Given the description of an element on the screen output the (x, y) to click on. 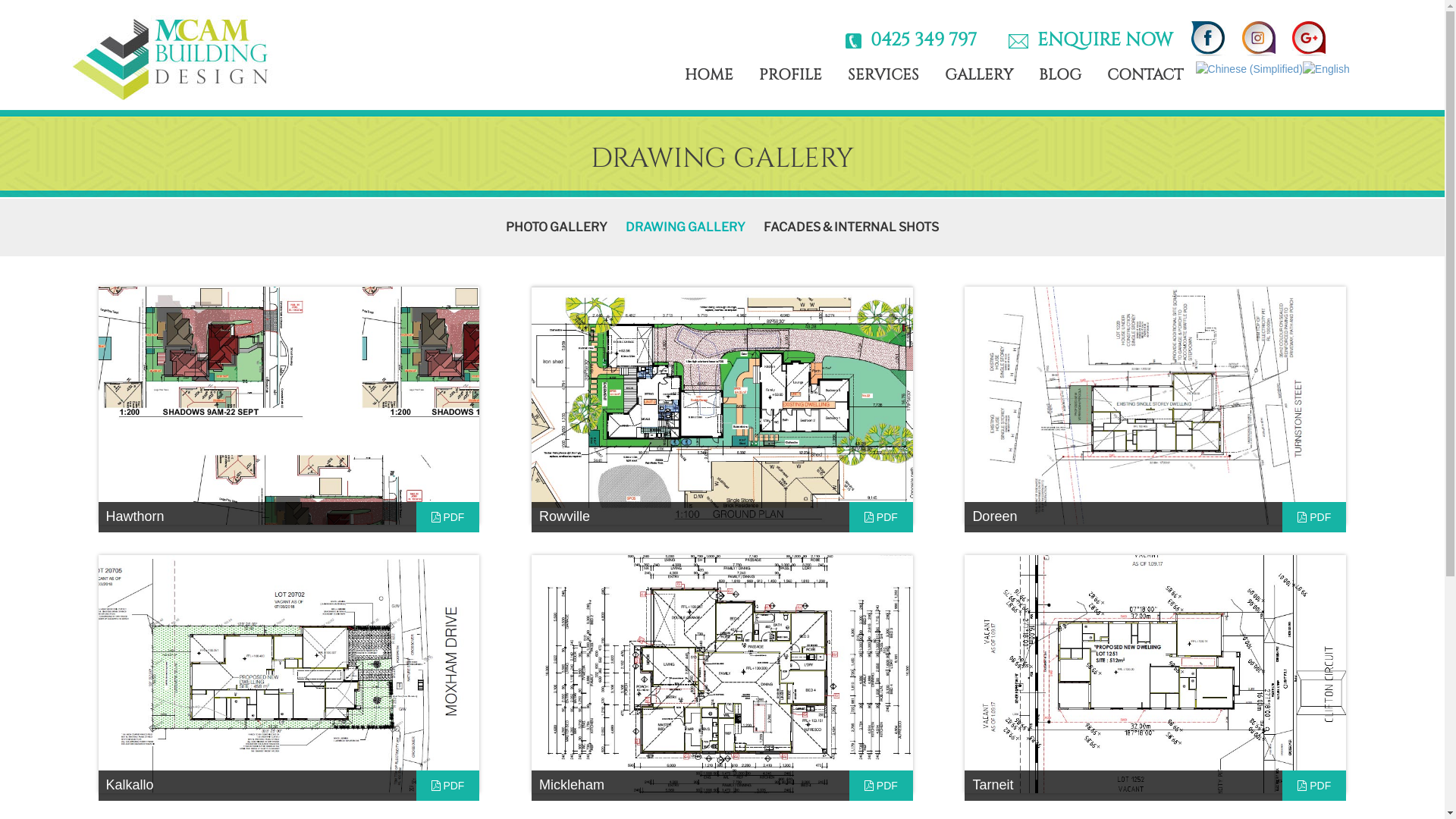
PDF Element type: text (1314, 785)
PDF Element type: text (1314, 517)
DRAWING GALLERY Element type: text (685, 226)
facebook Element type: hover (1207, 38)
SERVICES Element type: text (883, 75)
  Element type: text (1335, 27)
HOME Element type: text (708, 75)
PHOTO GALLERY Element type: text (556, 226)
google Element type: hover (1347, 27)
English Element type: hover (1325, 68)
CONTACT Element type: text (1145, 75)
google Element type: hover (1308, 38)
PDF Element type: text (447, 785)
PDF Element type: text (881, 517)
Chinese (Simplified) Element type: hover (1248, 68)
facebook Element type: hover (1335, 27)
PROFILE Element type: text (790, 75)
BLOG Element type: text (1059, 75)
  Element type: text (1347, 27)
 ENQUIRE NOW Element type: text (1100, 40)
FACADES & INTERNAL SHOTS Element type: text (850, 226)
instagram Element type: hover (1258, 38)
instagram Element type: hover (1341, 27)
GALLERY Element type: text (978, 75)
  Element type: text (1341, 27)
PDF Element type: text (881, 785)
PDF Element type: text (447, 517)
